Given the description of an element on the screen output the (x, y) to click on. 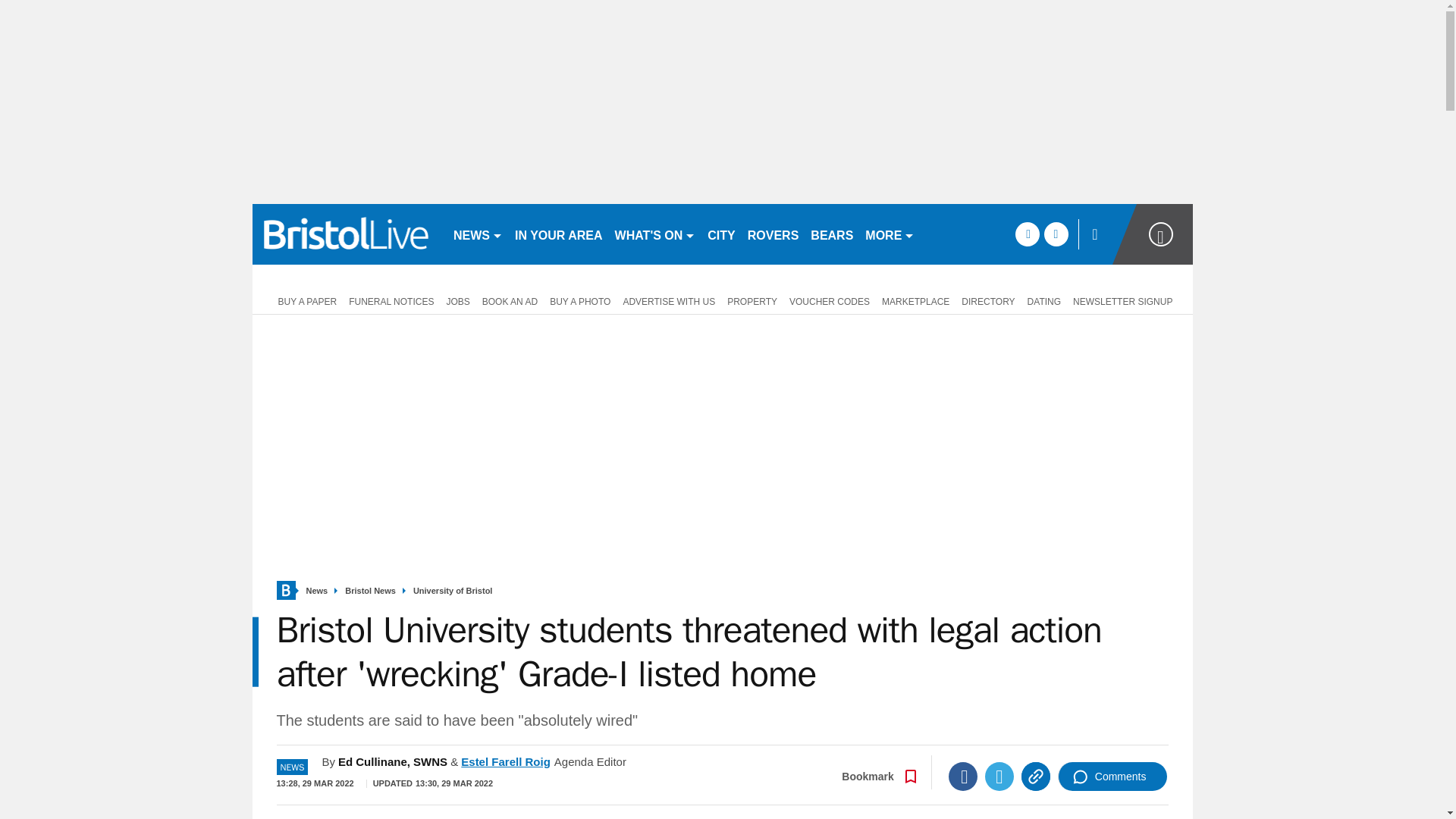
NEWS (477, 233)
WHAT'S ON (654, 233)
bristolpost (345, 233)
BEARS (832, 233)
Twitter (999, 776)
Facebook (962, 776)
facebook (1026, 233)
MORE (889, 233)
IN YOUR AREA (558, 233)
Comments (1112, 776)
twitter (1055, 233)
ROVERS (773, 233)
